Given the description of an element on the screen output the (x, y) to click on. 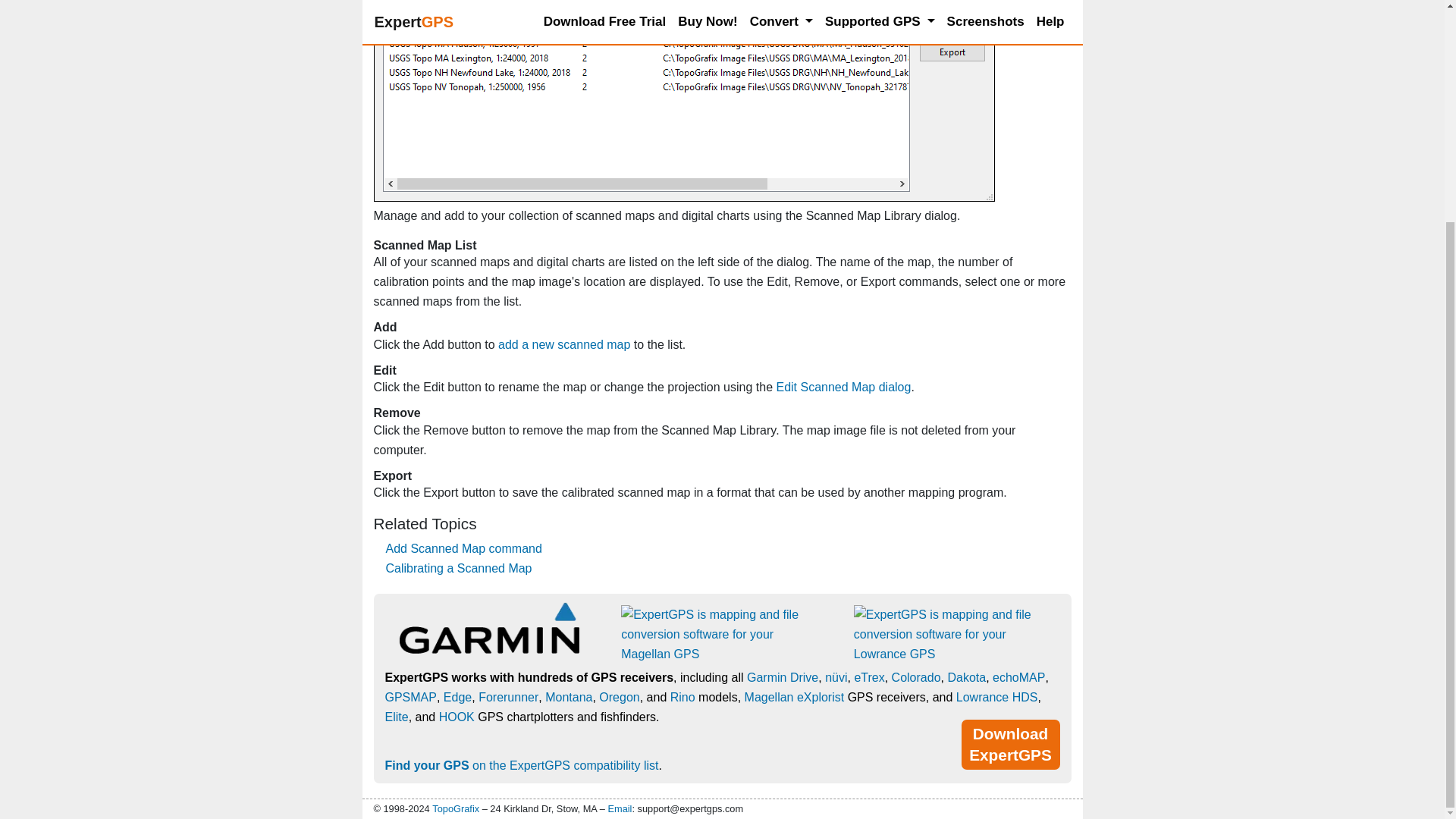
Contact Dan Foster, author of ExpertGPS map software (455, 808)
Click to confirm that ExpertGPS works with your Garmin GPS (489, 635)
